Given the description of an element on the screen output the (x, y) to click on. 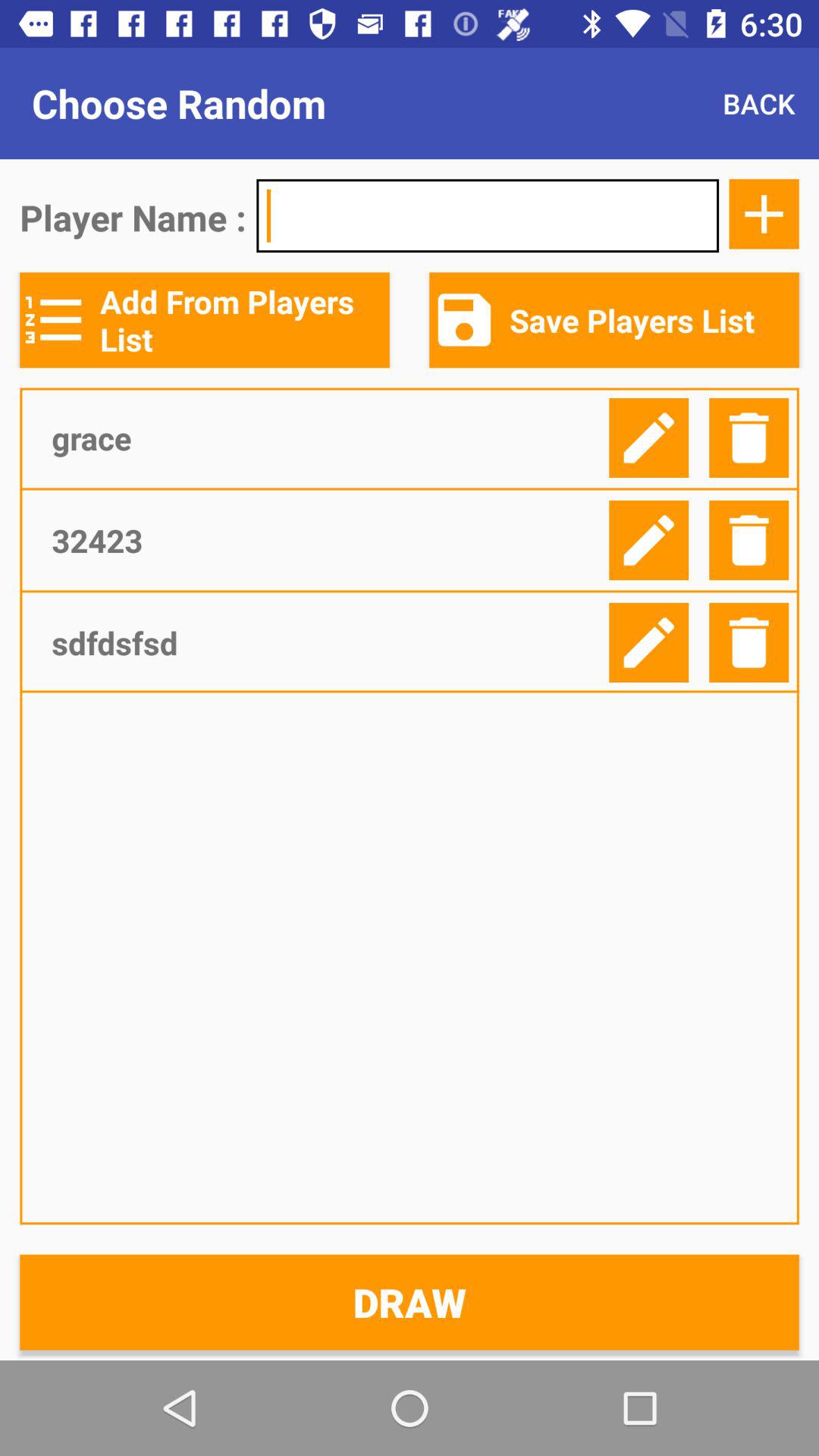
turn off item below add from players (324, 437)
